Given the description of an element on the screen output the (x, y) to click on. 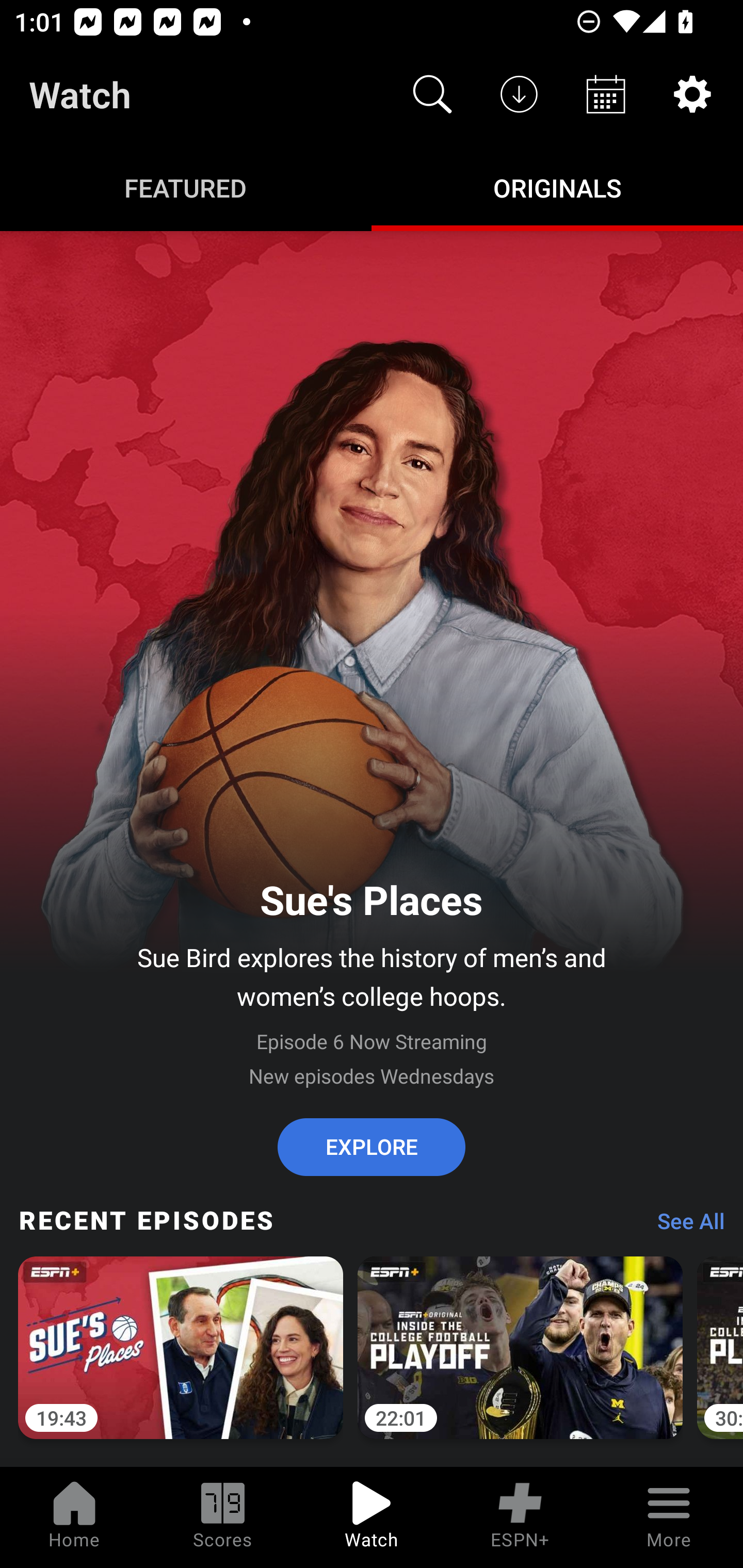
Search (432, 93)
Downloads (518, 93)
Schedule (605, 93)
Settings (692, 93)
Featured FEATURED (185, 187)
EXPLORE (371, 1146)
See All (683, 1225)
19:43 Let’s Go Krzy (Ep. 6) (180, 1358)
22:01 Nobody Better (Ep. 4) (519, 1358)
Home (74, 1517)
Scores (222, 1517)
ESPN+ (519, 1517)
More (668, 1517)
